Given the description of an element on the screen output the (x, y) to click on. 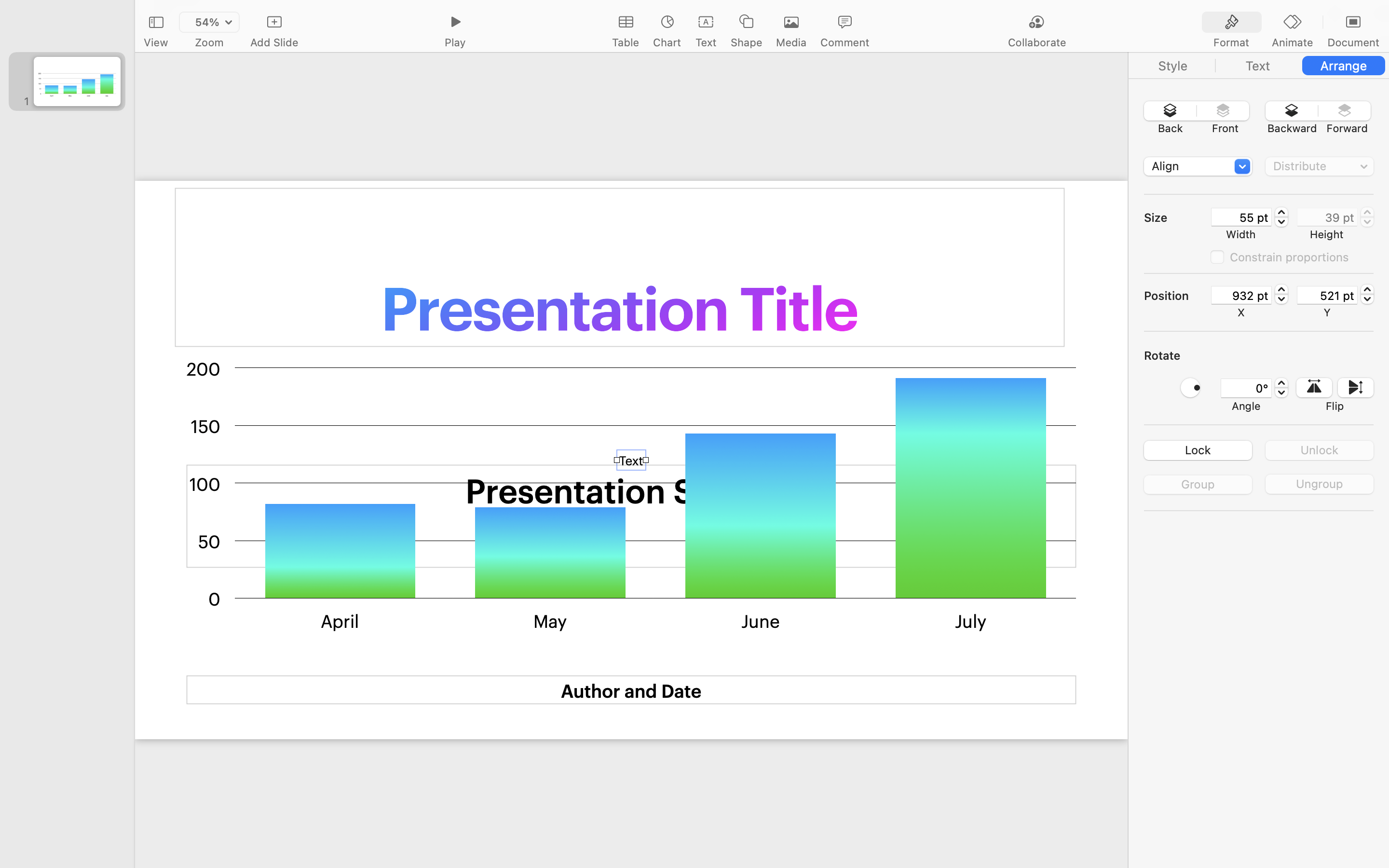
Angle Element type: AXStaticText (1245, 405)
<AXUIElement 0x2996dd680> {pid=1697} Element type: AXRadioGroup (1258, 65)
520.620000243187 Element type: AXIncrementor (1367, 293)
Document Element type: AXStaticText (1352, 42)
Y Element type: AXStaticText (1327, 312)
